Given the description of an element on the screen output the (x, y) to click on. 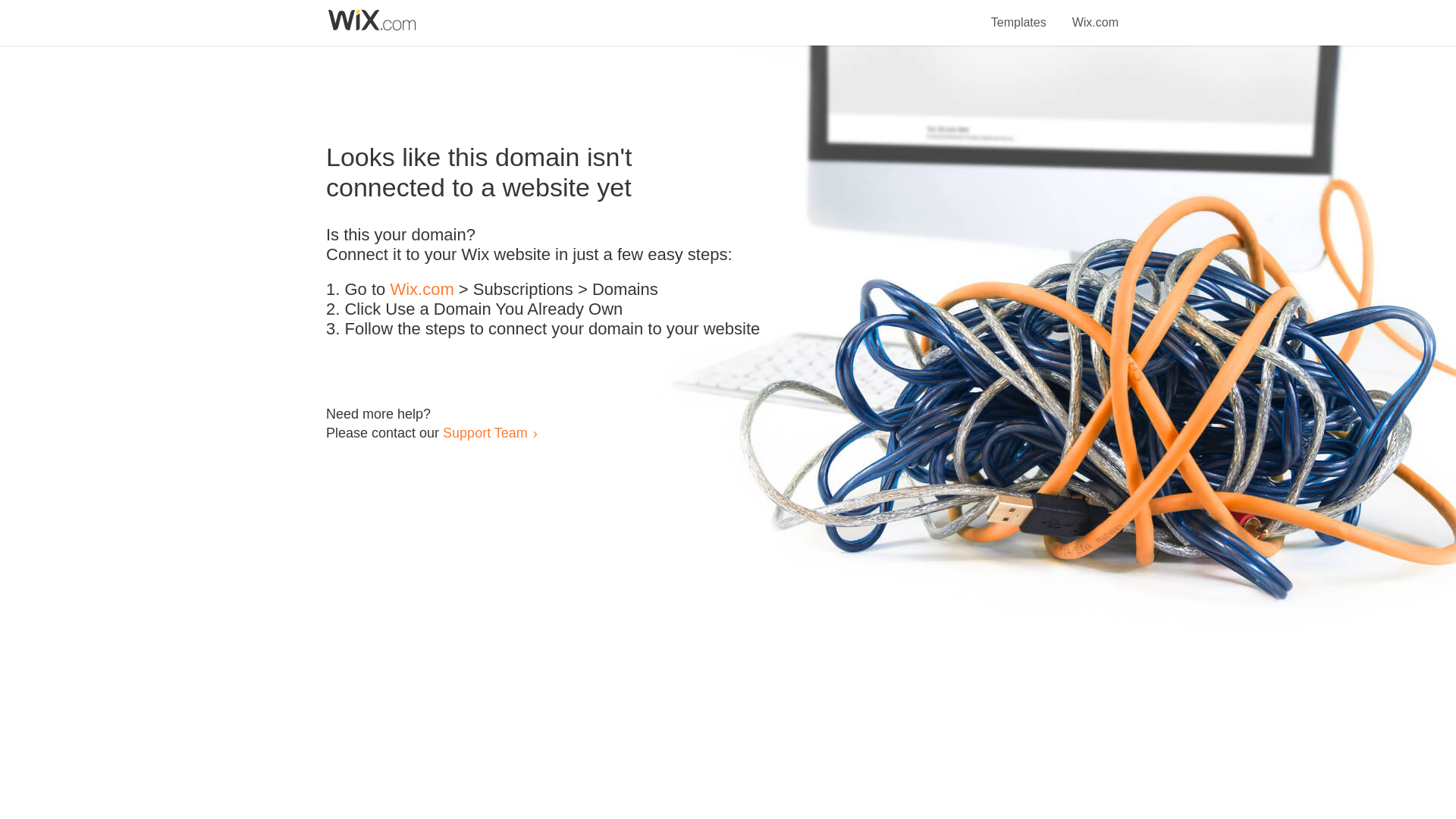
Wix.com (421, 289)
Templates (1018, 14)
Wix.com (1095, 14)
Support Team (484, 432)
